Given the description of an element on the screen output the (x, y) to click on. 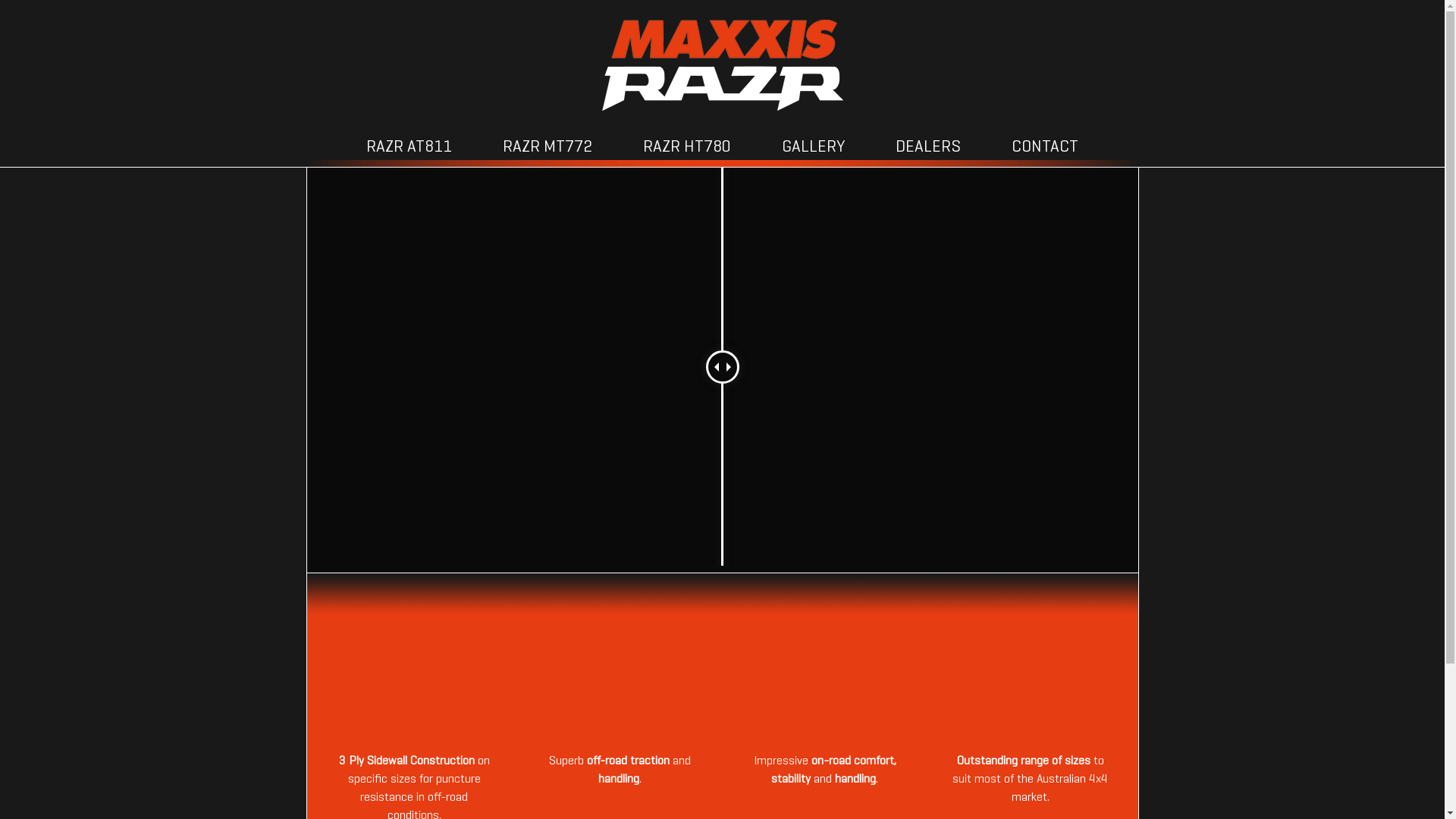
GALLERY Element type: text (813, 147)
DEALERS Element type: text (928, 147)
RAZR HT780 Element type: text (686, 147)
MAXXIS RAZR Element type: text (722, 72)
Skip to primary navigation Element type: text (0, 0)
CONTACT Element type: text (1044, 147)
RAZR MT772 Element type: text (547, 147)
RAZR AT811 Element type: text (408, 147)
